Given the description of an element on the screen output the (x, y) to click on. 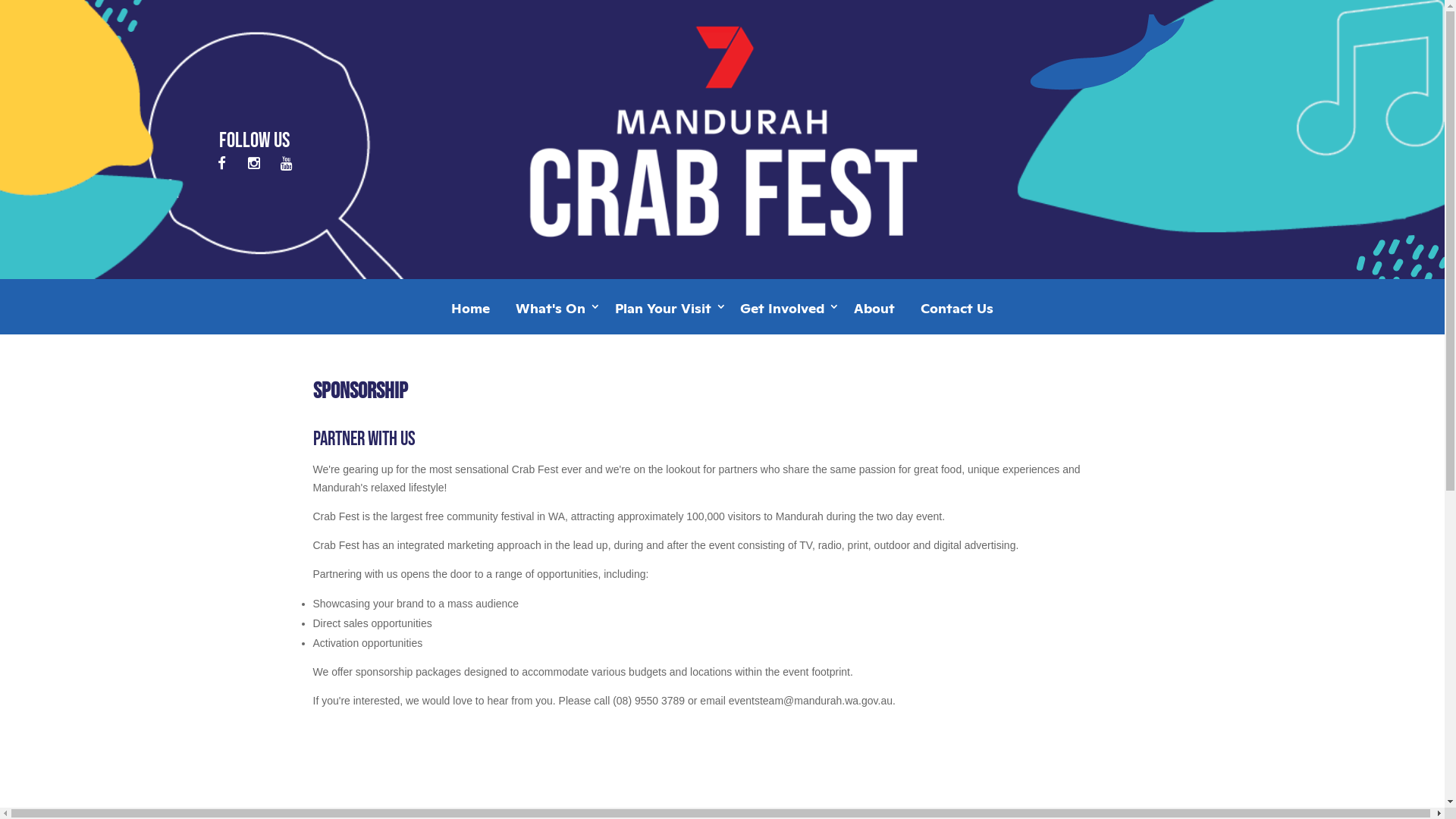
About Element type: text (874, 314)
What's On Element type: text (552, 314)
Plan Your Visit Element type: text (664, 314)
Contact Us Element type: text (956, 314)
City of Mandurah  Page Element type: hover (286, 162)
City of Mandurah  Page Element type: hover (254, 162)
Get Involved Element type: text (783, 314)
City of Mandurah  Page Element type: hover (221, 162)
Home Element type: text (470, 314)
